Given the description of an element on the screen output the (x, y) to click on. 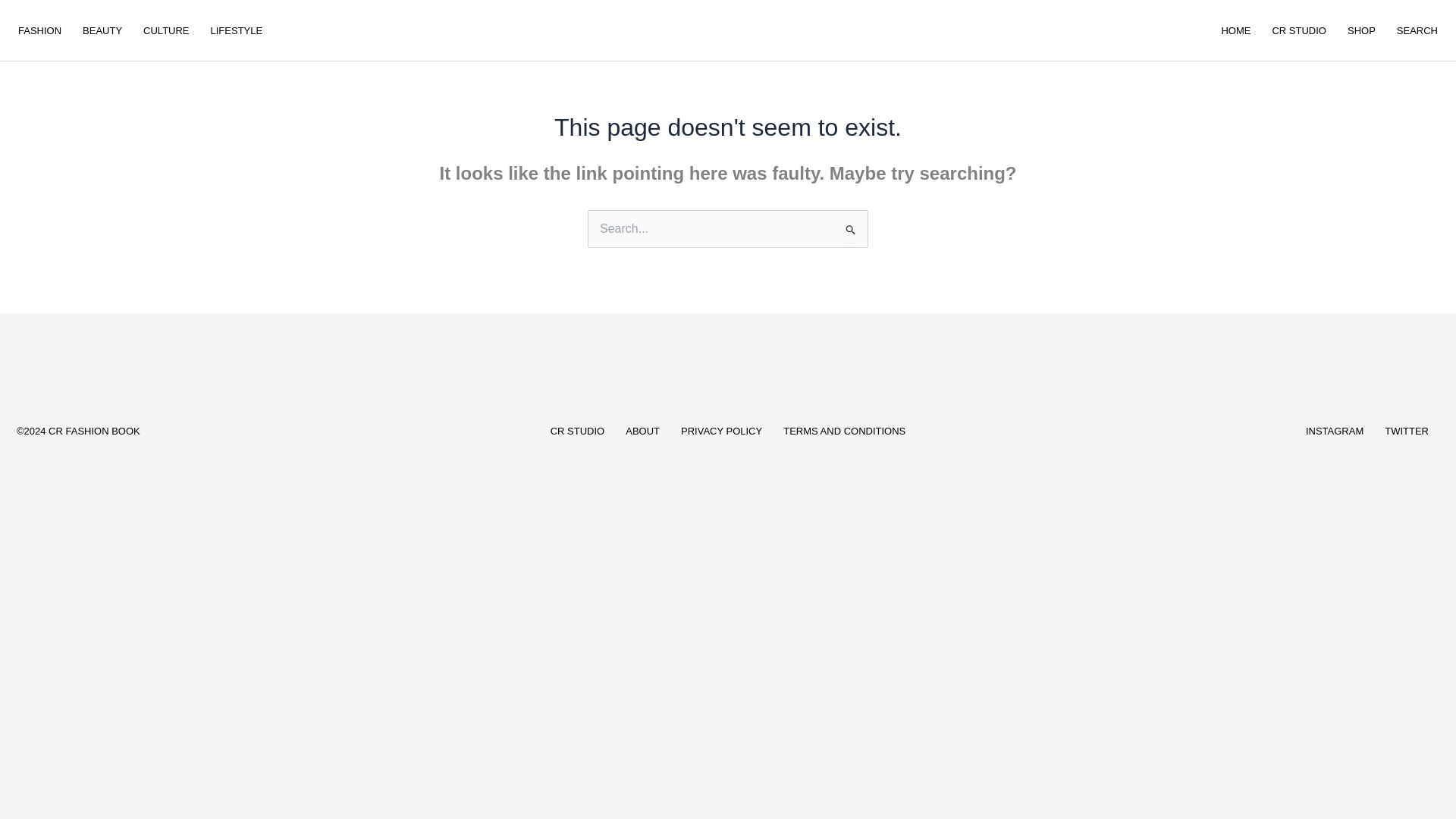
TERMS AND CONDITIONS (844, 430)
INSTAGRAM (1334, 430)
TWITTER (1406, 430)
CULTURE (165, 30)
SHOP (1361, 30)
LIFESTYLE (236, 30)
CR STUDIO (1298, 30)
PRIVACY POLICY (721, 430)
BEAUTY (101, 30)
SEARCH (1417, 30)
